Given the description of an element on the screen output the (x, y) to click on. 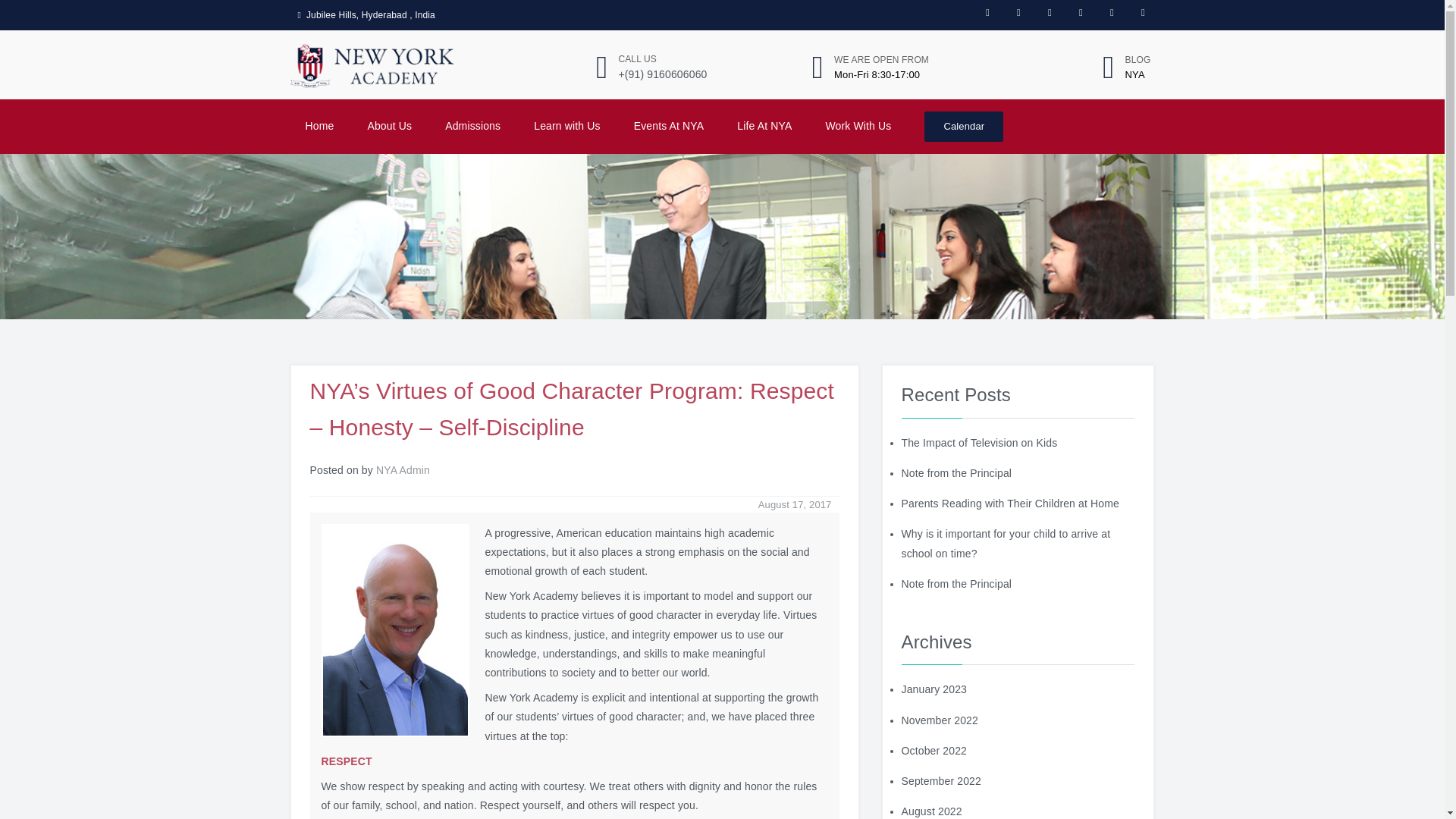
BLOG (1138, 59)
Admissions (472, 126)
WE ARE OPEN FROM (881, 59)
About Us (389, 126)
 Jubilee Hills, Hyderabad , India (365, 14)
CALL US (636, 59)
Home (318, 126)
Learn with Us (566, 126)
